Given the description of an element on the screen output the (x, y) to click on. 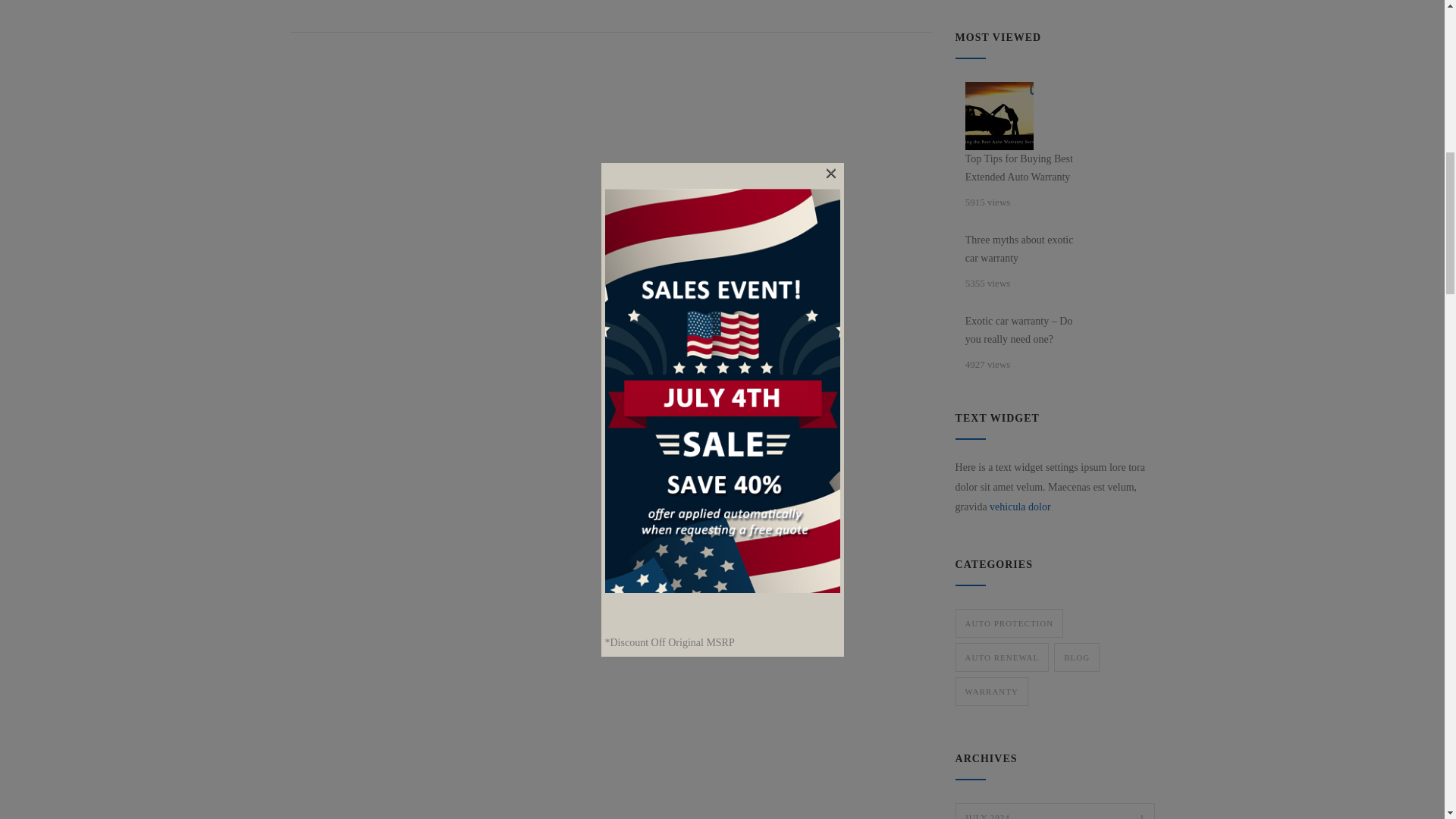
vehicula dolor (1019, 506)
Three myths about exotic car warranty (1025, 248)
Top Tips for Buying Best Extended Auto Warranty (1025, 167)
WARRANTY (991, 691)
AUTO RENEWAL (1002, 656)
Top Tips for Buying Best Extended Auto Warranty (1025, 167)
Three myths about exotic car warranty (1025, 248)
BLOG (1054, 811)
Top Tips for Buying Best Extended Auto Warranty (1076, 656)
AUTO PROTECTION (999, 115)
